Given the description of an element on the screen output the (x, y) to click on. 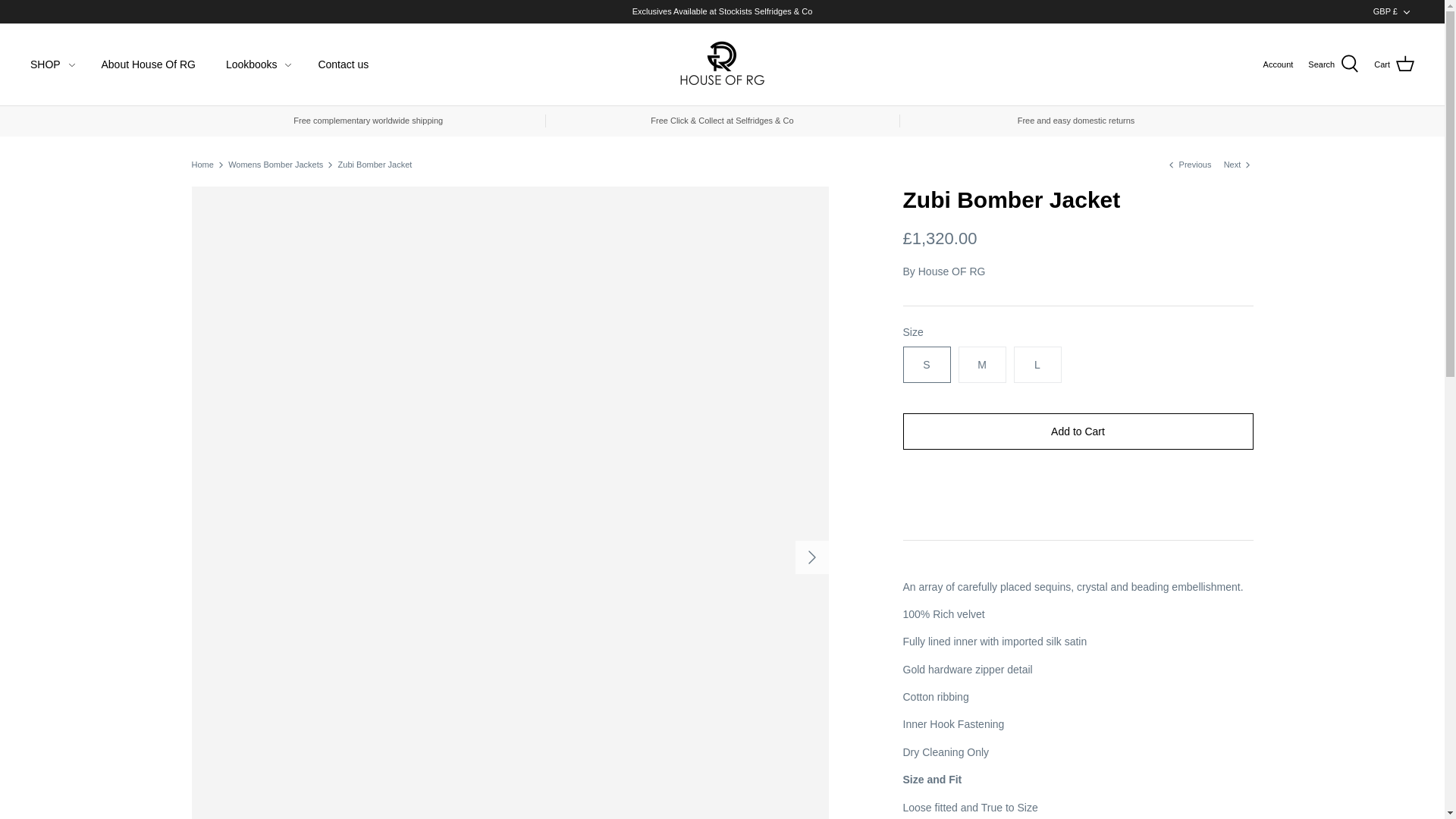
House OF RG (721, 64)
Search (1332, 64)
Legacy B Bomber Jacket (1238, 163)
Right (811, 557)
Down (1406, 11)
Zane Bomber Jacket (1189, 163)
Contact us (342, 64)
Cart (1393, 64)
Account (1278, 65)
About House Of RG (148, 64)
SHOP (45, 64)
Lookbooks (251, 64)
